Given the description of an element on the screen output the (x, y) to click on. 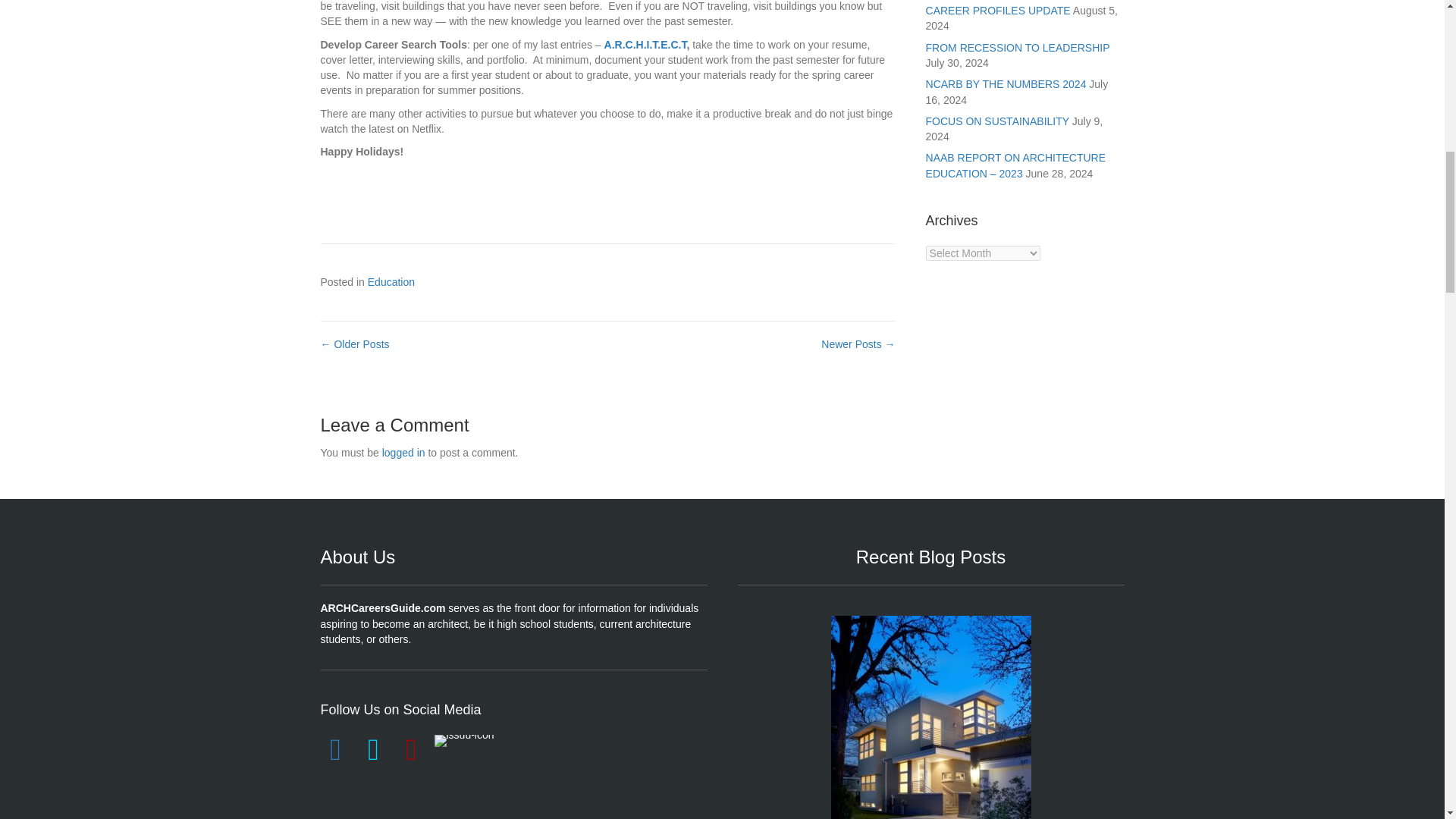
issuu-icon (463, 740)
Education (391, 282)
CAREER PROFILES UPDATE (930, 728)
A.R.C.H.I.T.E.C.T (645, 44)
